Given the description of an element on the screen output the (x, y) to click on. 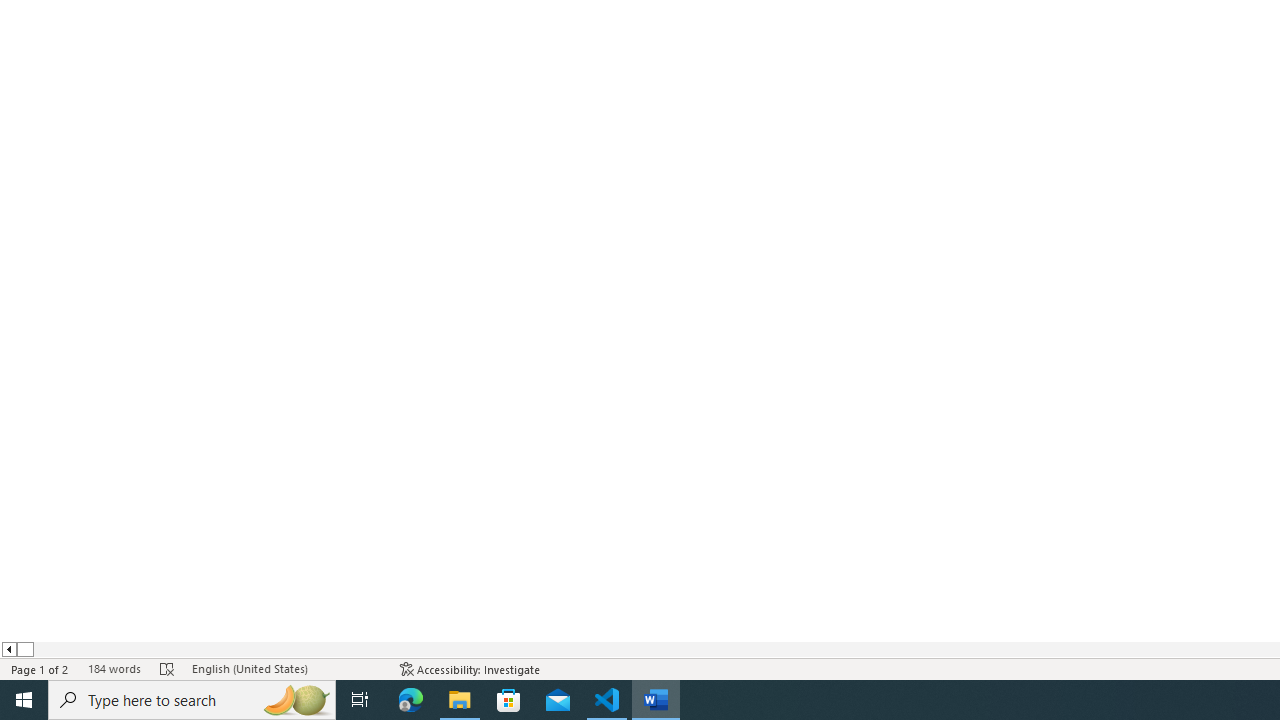
Start (24, 699)
